Given the description of an element on the screen output the (x, y) to click on. 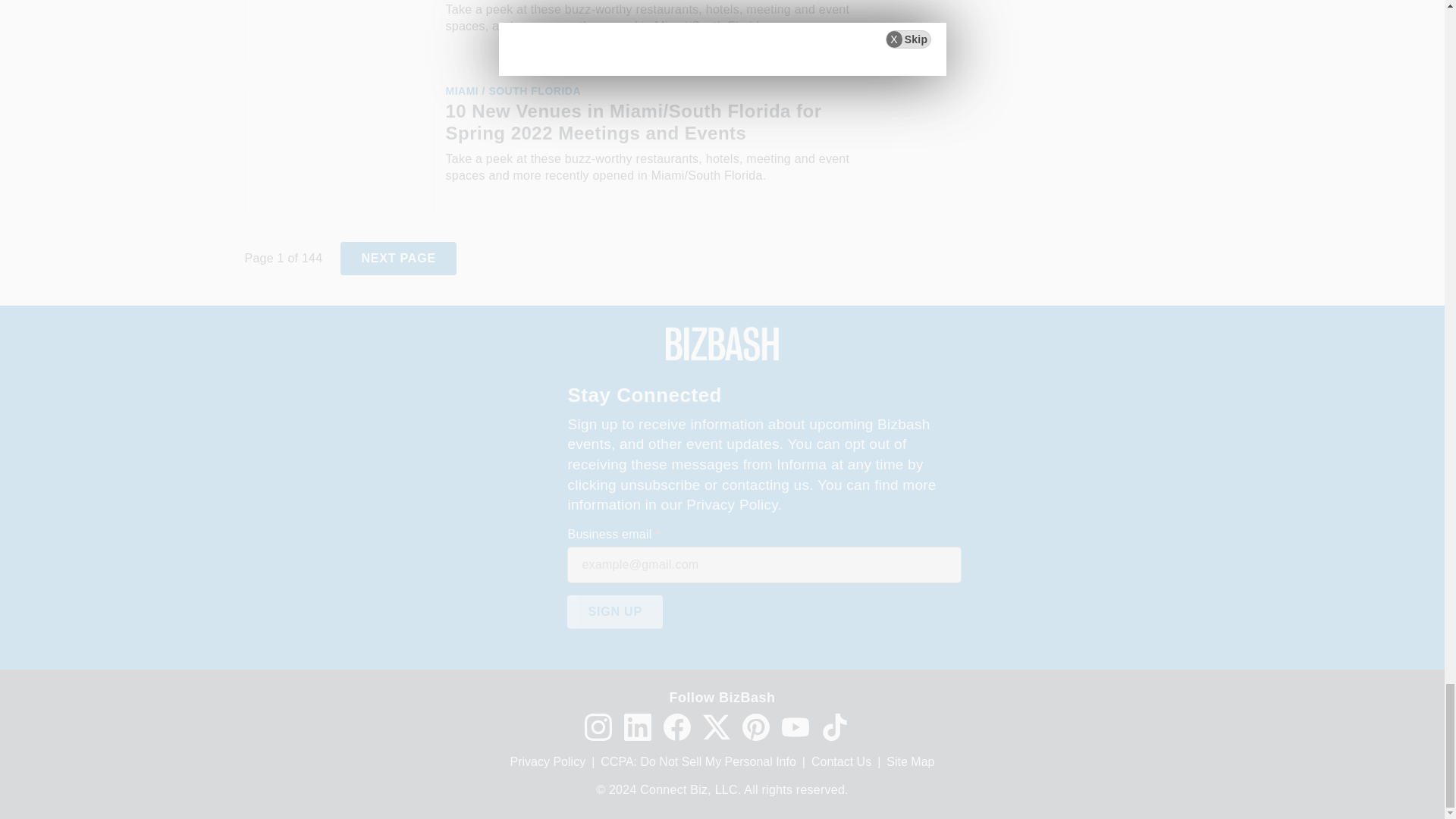
Twitter X icon (715, 727)
YouTube icon (794, 727)
TikTok (834, 727)
Pinterest icon (754, 727)
Facebook icon (676, 727)
LinkedIn icon (636, 727)
Instagram icon (597, 727)
